Given the description of an element on the screen output the (x, y) to click on. 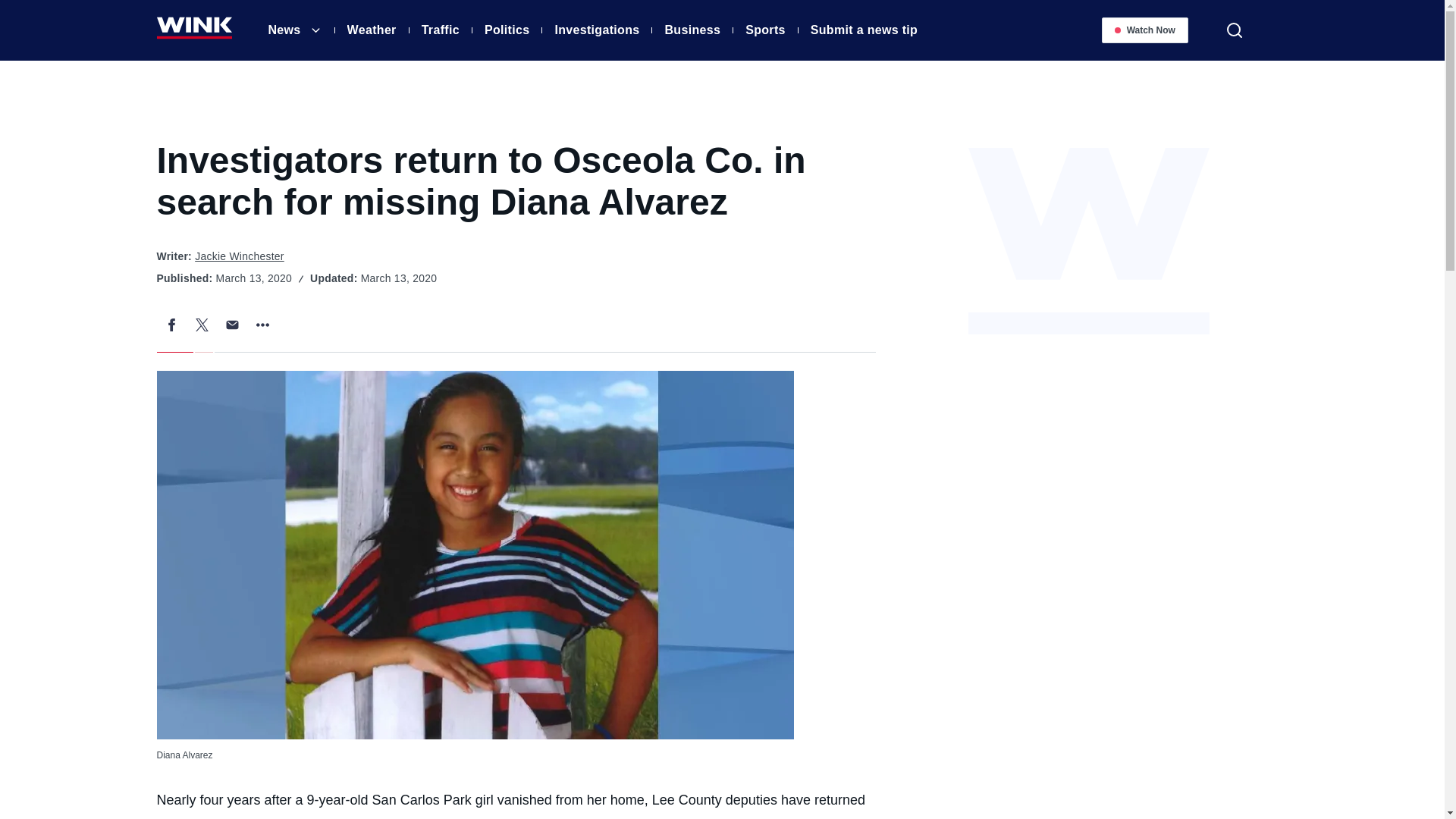
Submit a news tip (863, 31)
Weather (371, 31)
Click to email a link to a friend (231, 324)
Investigations (596, 31)
WINK News (193, 32)
Toggle Search (1233, 30)
Politics (506, 31)
Sports (765, 31)
News (284, 31)
Business (691, 31)
